Given the description of an element on the screen output the (x, y) to click on. 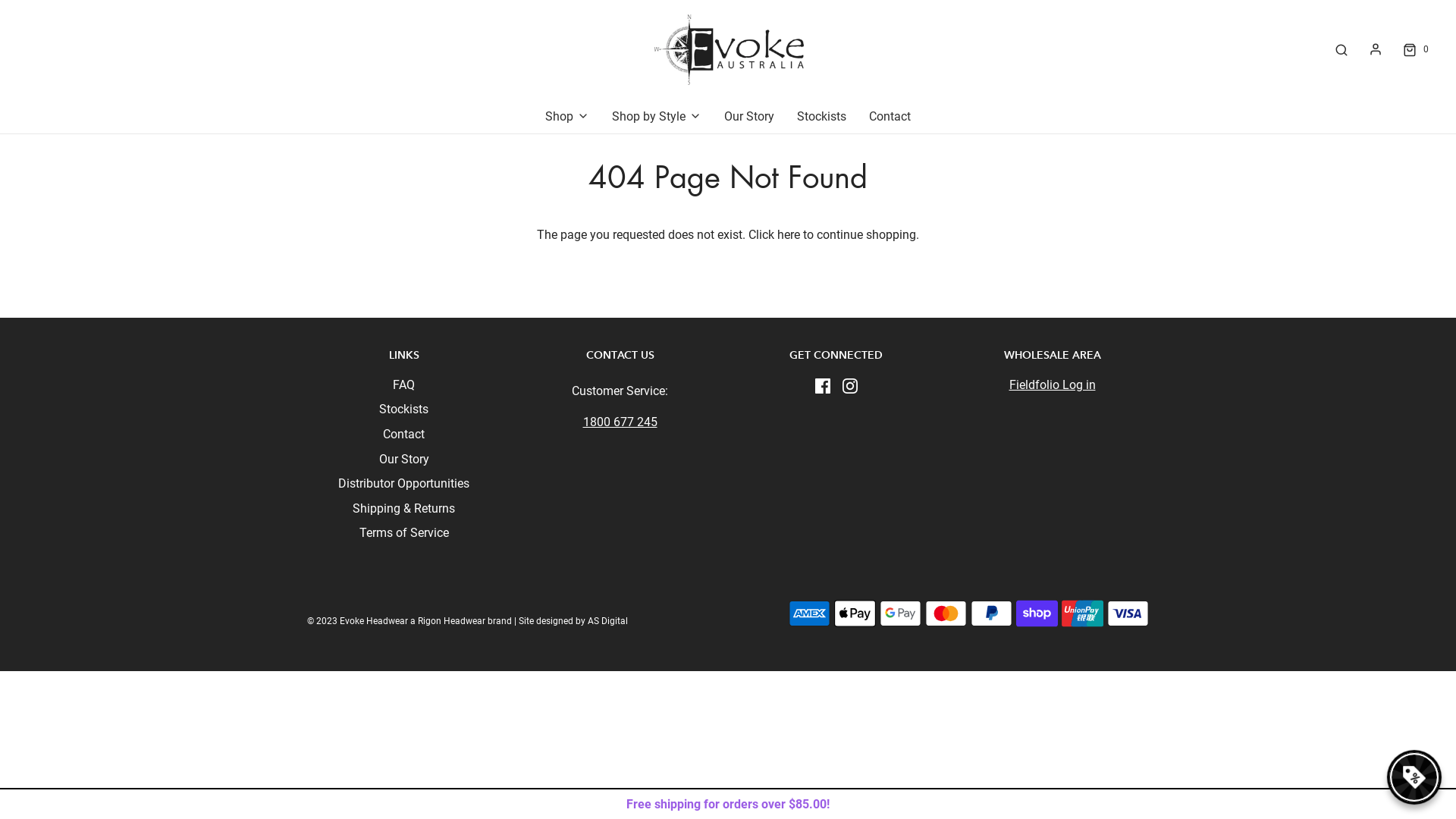
Contact Element type: text (403, 436)
1800 677 245 Element type: text (619, 421)
Search Element type: hover (1341, 49)
Log in Element type: hover (1375, 49)
here Element type: text (788, 234)
Our Story Element type: text (404, 461)
AS Digital Element type: text (607, 620)
0 Element type: text (1414, 49)
Fieldfolio Log in Element type: text (1051, 384)
Shipping & Returns Element type: text (403, 511)
Contact Element type: text (889, 116)
Rigon Headwear Element type: text (451, 620)
Shop Element type: text (567, 116)
Facebook icon Element type: text (821, 385)
Our Story Element type: text (749, 116)
FAQ Element type: text (403, 387)
Terms of Service Element type: text (403, 535)
Stockists Element type: text (821, 116)
Stockists Element type: text (403, 411)
Shop by Style Element type: text (656, 116)
Distributor Opportunities Element type: text (403, 485)
Instagram icon Element type: text (848, 385)
